Given the description of an element on the screen output the (x, y) to click on. 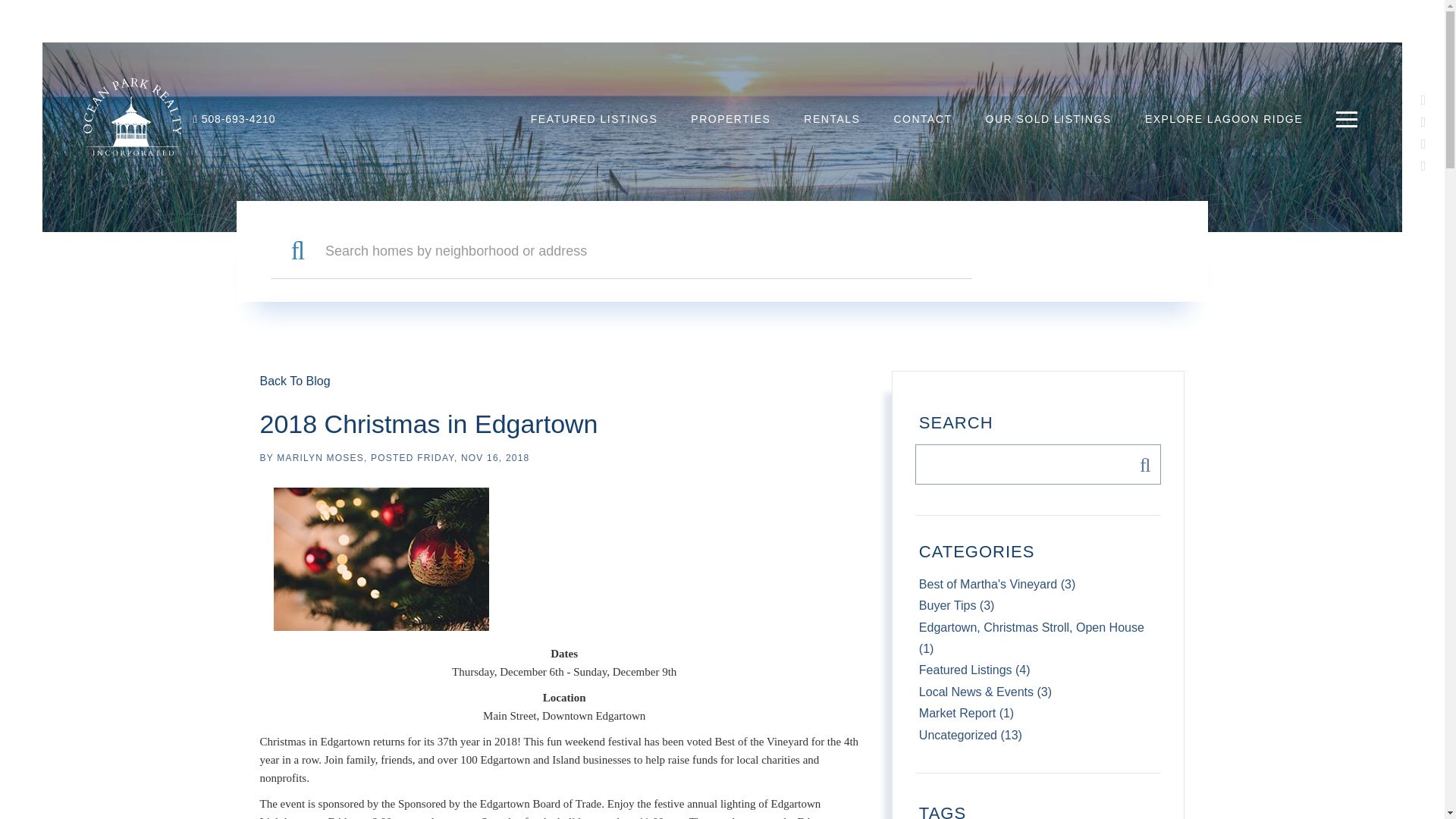
RENTALS (831, 118)
508-693-4210 (234, 119)
OUR SOLD LISTINGS (1048, 118)
Search (1140, 464)
EXPLORE LAGOON RIDGE (1223, 118)
FEATURED LISTINGS (594, 118)
CONTACT (922, 118)
PROPERTIES (730, 118)
